Given the description of an element on the screen output the (x, y) to click on. 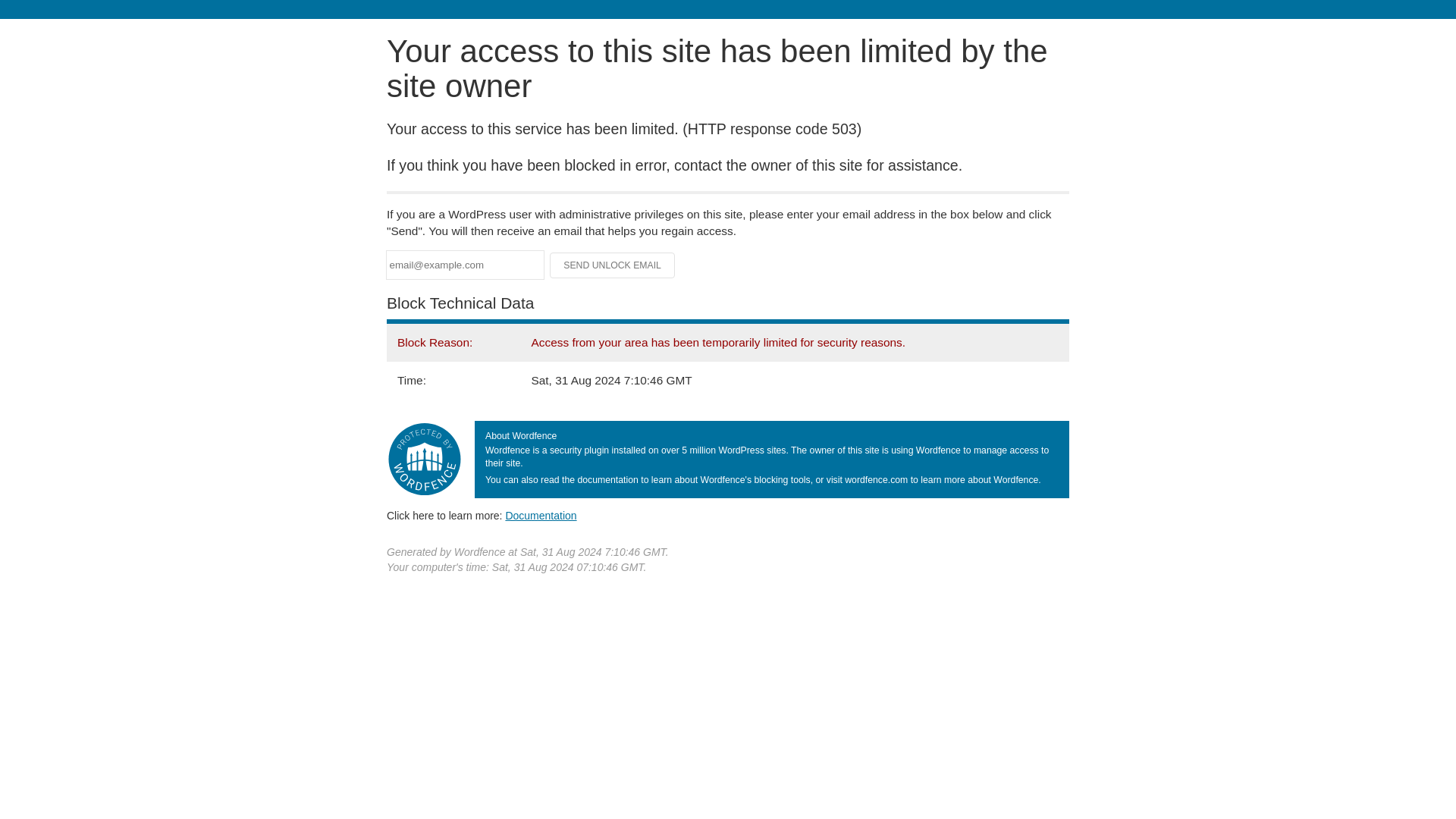
Send Unlock Email (612, 265)
Documentation (540, 515)
Send Unlock Email (612, 265)
